Given the description of an element on the screen output the (x, y) to click on. 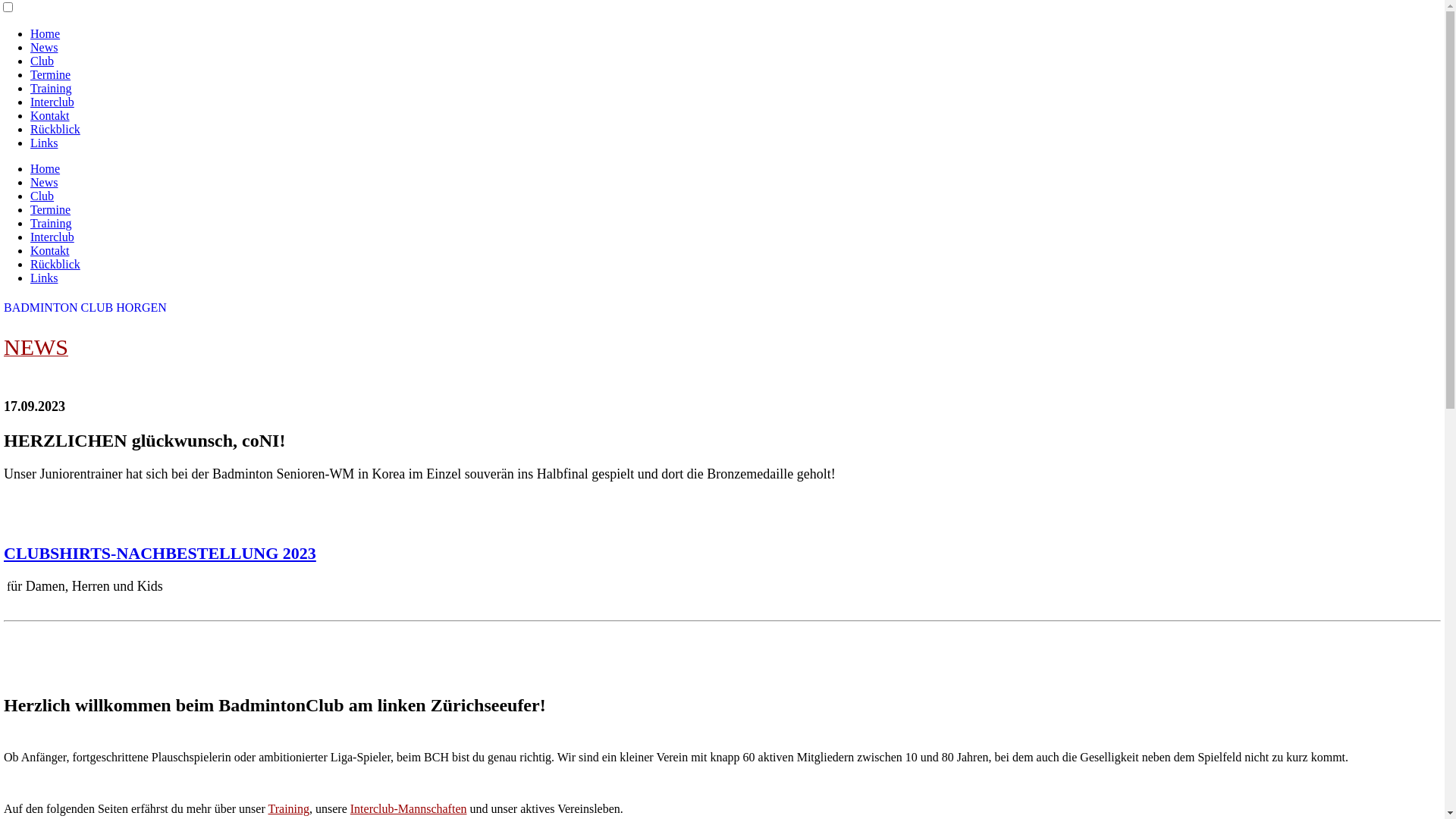
Home Element type: text (44, 33)
Termine Element type: text (50, 74)
Club Element type: text (41, 195)
Training Element type: text (51, 222)
Club Element type: text (41, 60)
Interclub-Mannschaften Element type: text (408, 808)
NEWS Element type: text (35, 350)
Links Element type: text (43, 277)
Links Element type: text (43, 142)
Interclub Element type: text (52, 101)
Home Element type: text (44, 168)
News Element type: text (43, 181)
Training Element type: text (288, 808)
BADMINTON CLUB HORGEN Element type: text (84, 307)
CLUBSHIRTS-NACHBESTELLUNG 2023 Element type: text (159, 552)
Training Element type: text (51, 87)
Interclub Element type: text (52, 236)
News Element type: text (43, 46)
Kontakt Element type: text (49, 115)
Kontakt Element type: text (49, 250)
Termine Element type: text (50, 209)
